Given the description of an element on the screen output the (x, y) to click on. 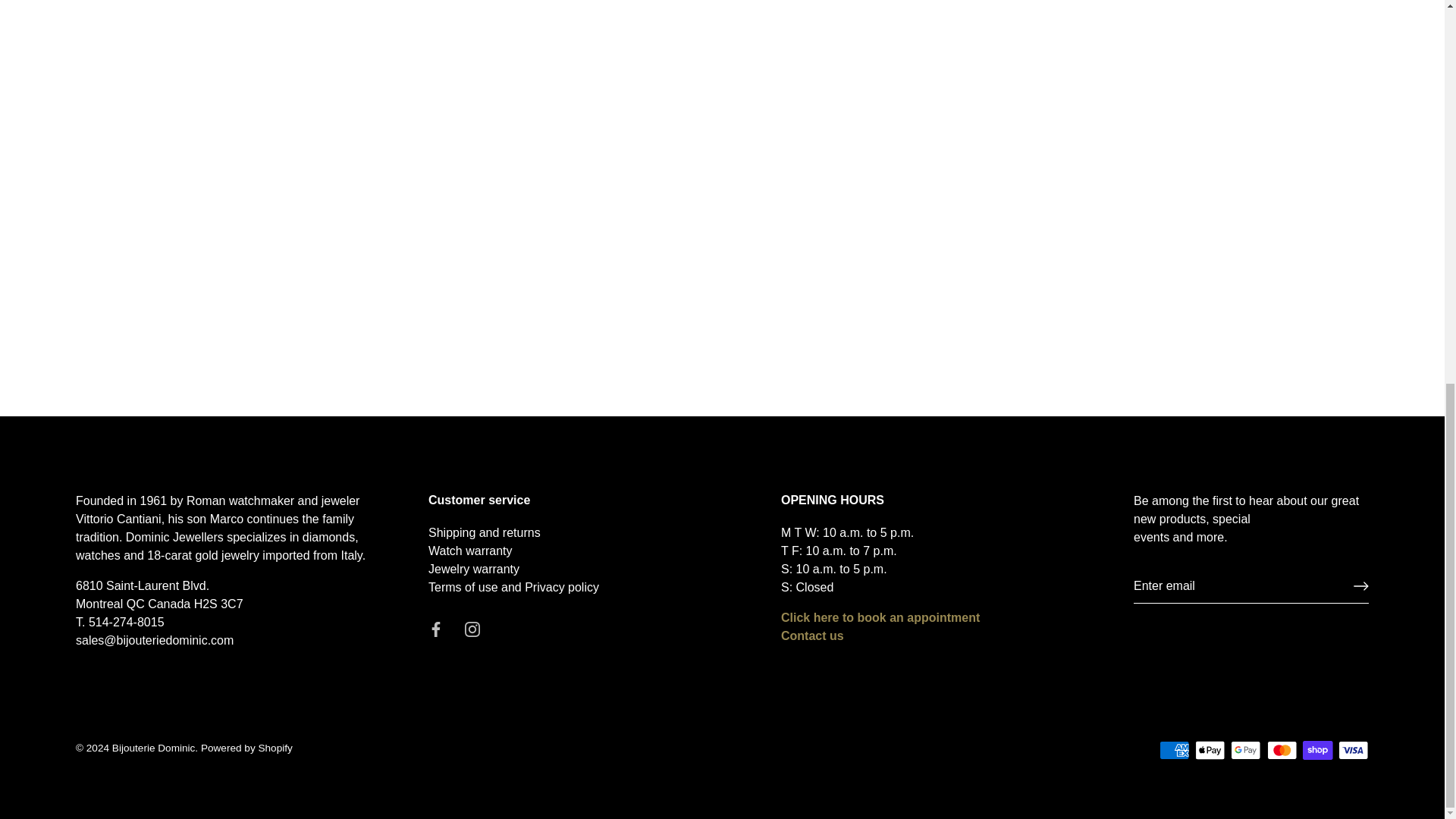
tel:514-274-8015 (126, 621)
Apple Pay (1209, 750)
Mastercard (1281, 750)
Visa (1353, 750)
American Express (1173, 750)
Shipping And Returns (484, 532)
Terms of use and privacy policy (513, 586)
Google Pay (1245, 750)
Shop Pay (1317, 750)
RIGHT ARROW LONG (1361, 585)
Contact (812, 635)
Instagram (472, 629)
Shipping And Returns (470, 550)
Shipping And Returns (473, 568)
